Given the description of an element on the screen output the (x, y) to click on. 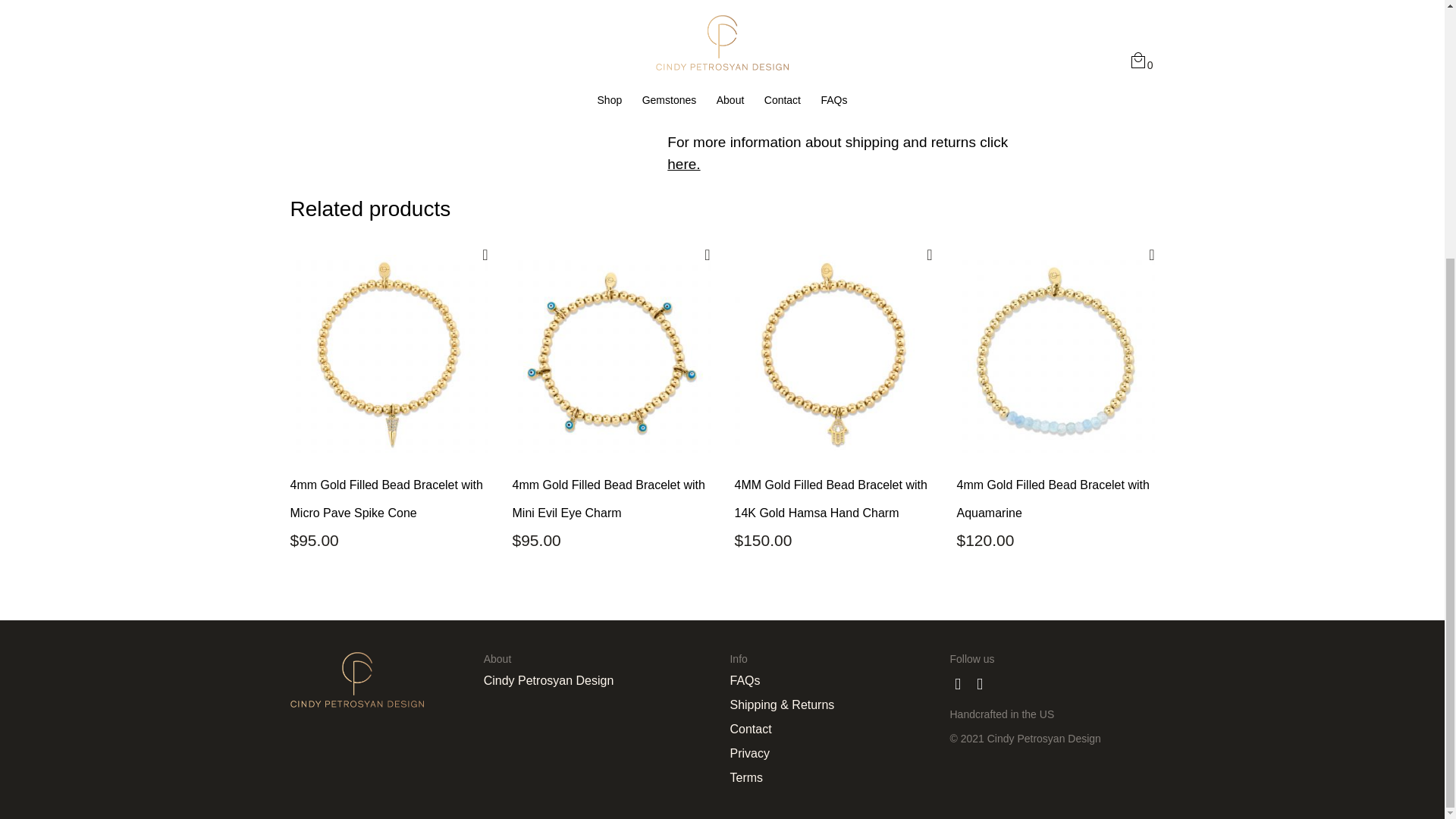
Contact (831, 728)
For more information about shipping and returns click here. (836, 152)
Terms (831, 777)
Privacy (831, 752)
Cindy Petrosyan Design (598, 679)
FAQs (831, 679)
